Given the description of an element on the screen output the (x, y) to click on. 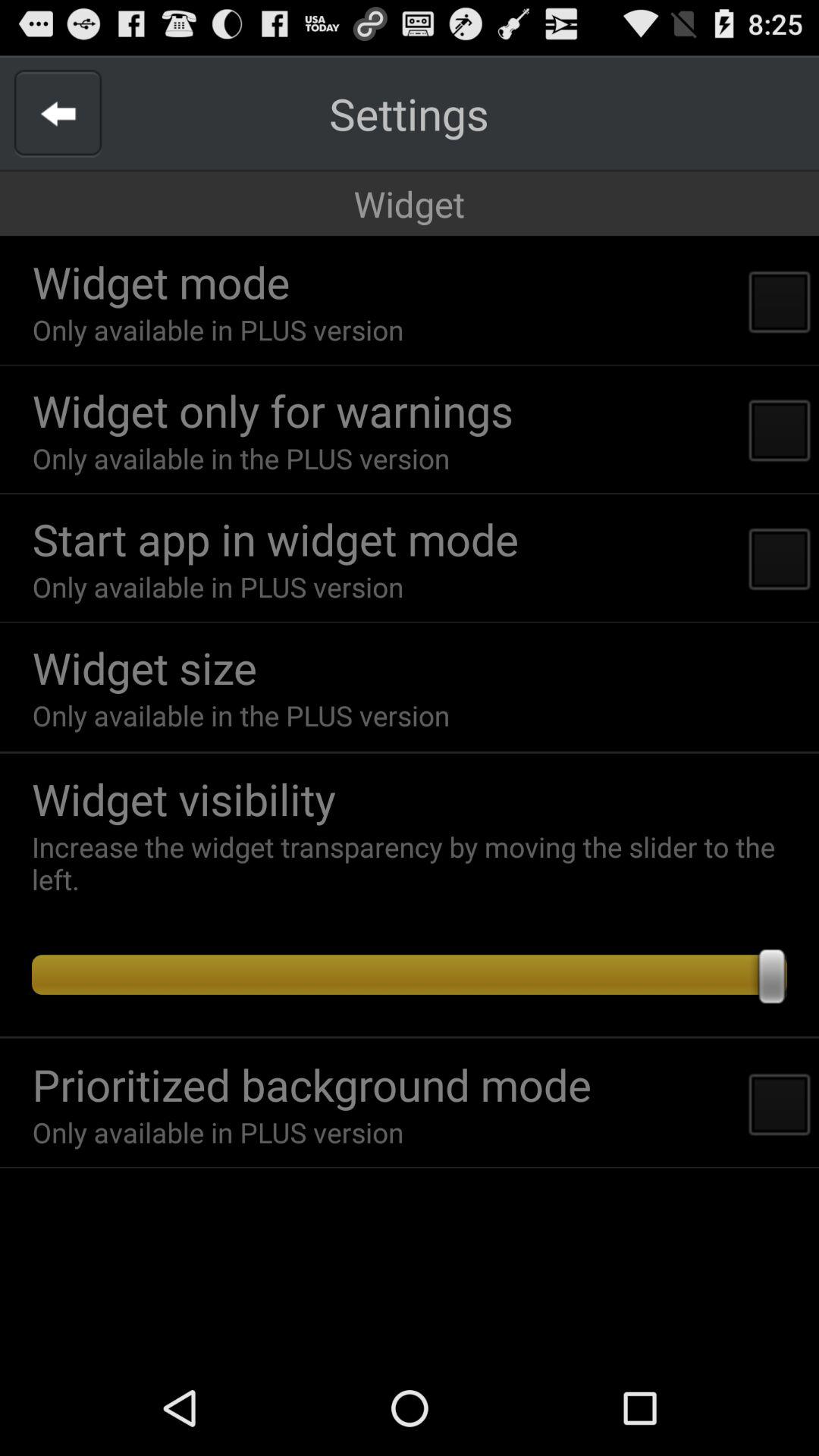
press the icon above only available in icon (275, 538)
